Given the description of an element on the screen output the (x, y) to click on. 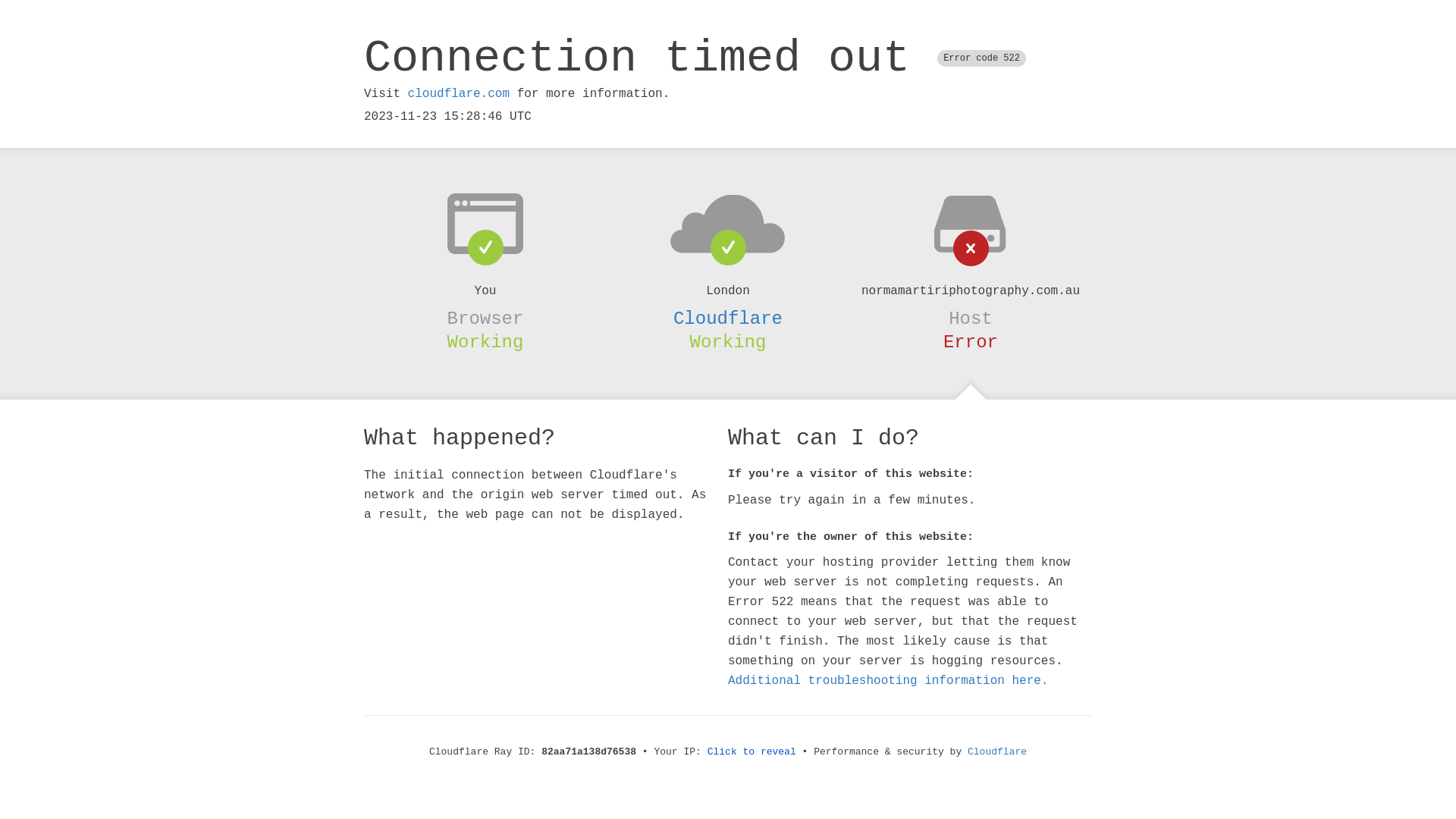
Cloudflare Element type: text (996, 751)
Additional troubleshooting information here. Element type: text (888, 680)
Cloudflare Element type: text (727, 318)
Click to reveal Element type: text (751, 751)
cloudflare.com Element type: text (458, 93)
